Given the description of an element on the screen output the (x, y) to click on. 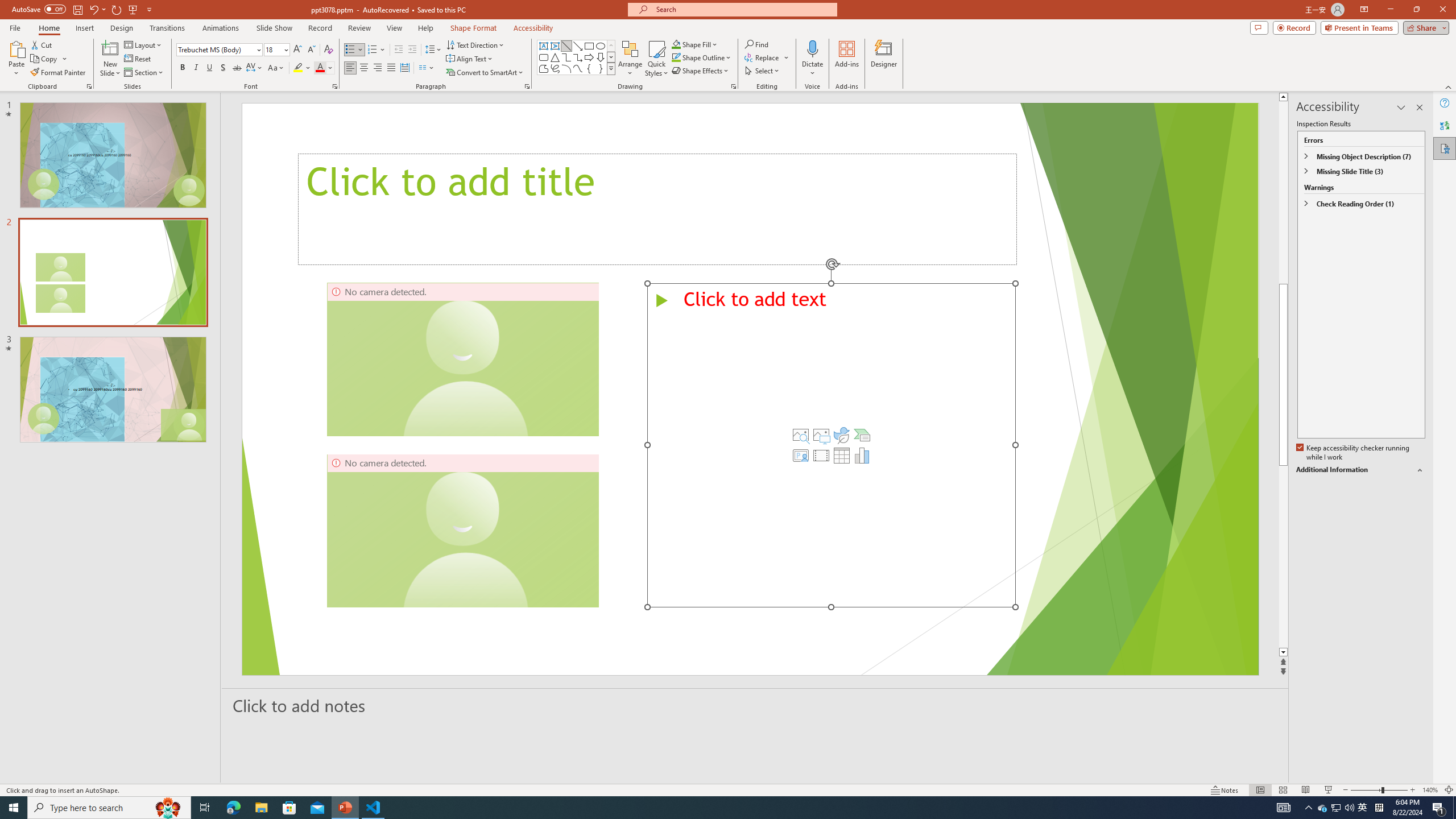
Camera 5, No camera detected. (462, 530)
